Given the description of an element on the screen output the (x, y) to click on. 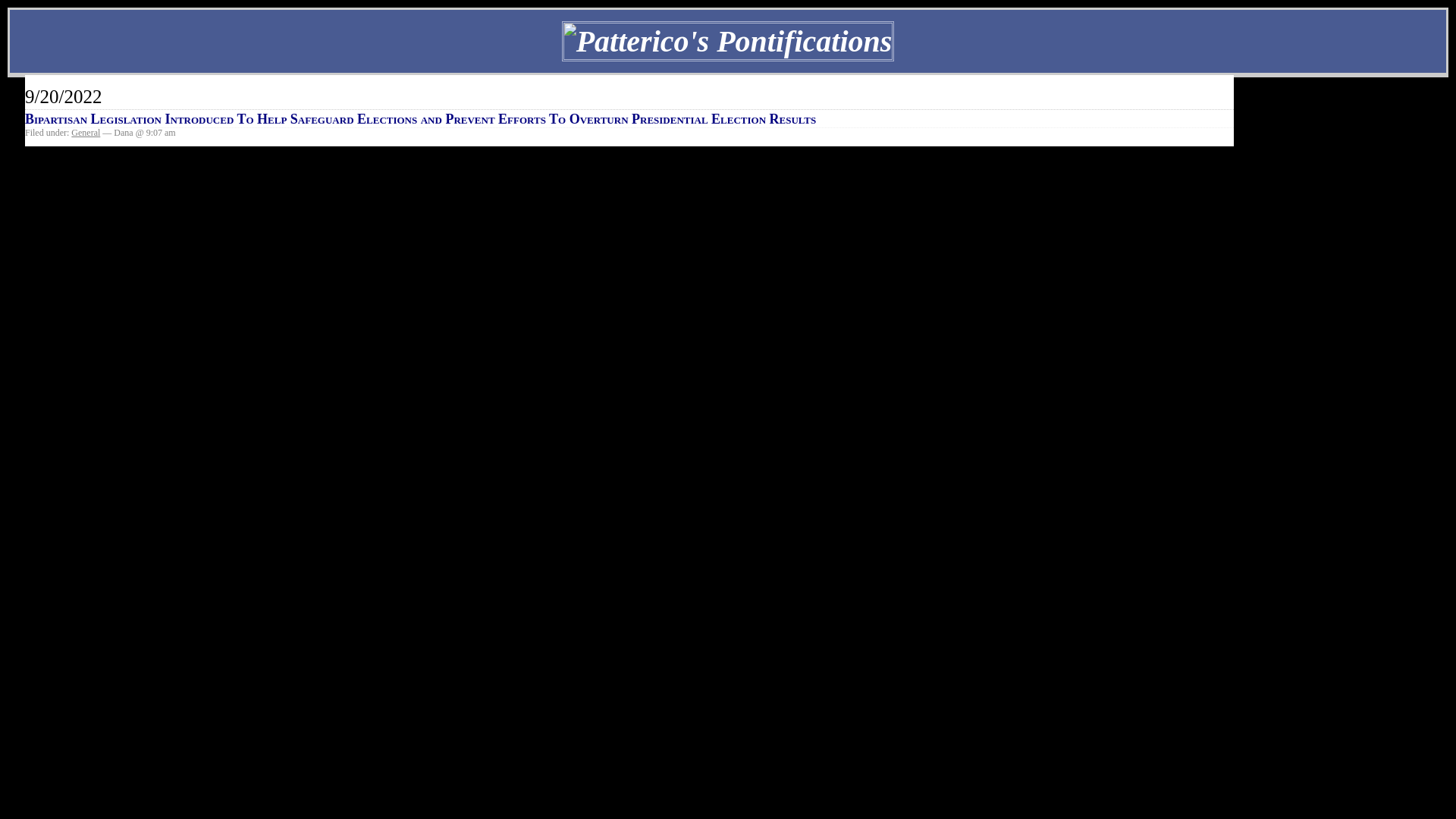
General (85, 132)
